Given the description of an element on the screen output the (x, y) to click on. 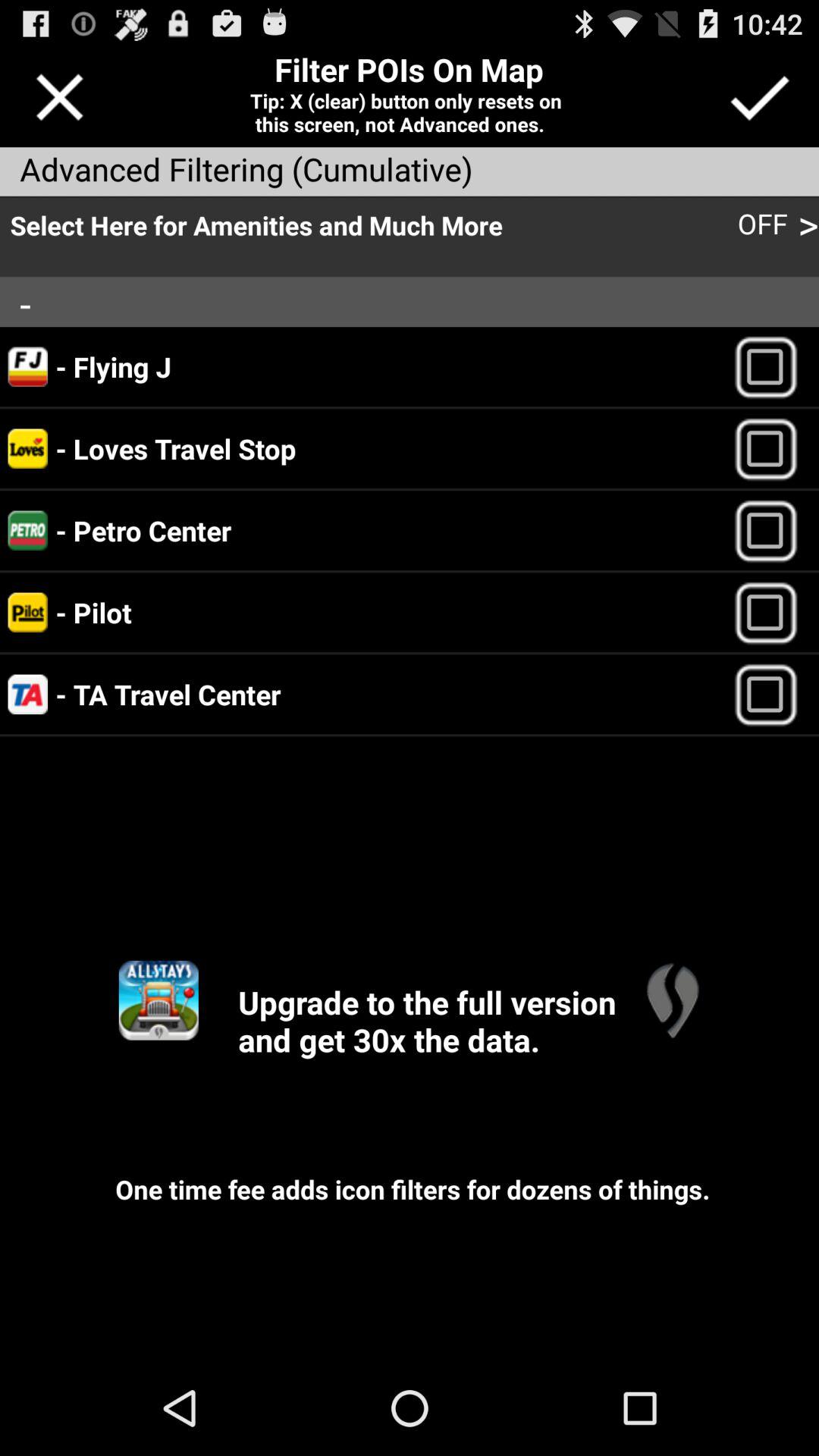
click for select opition (772, 448)
